Given the description of an element on the screen output the (x, y) to click on. 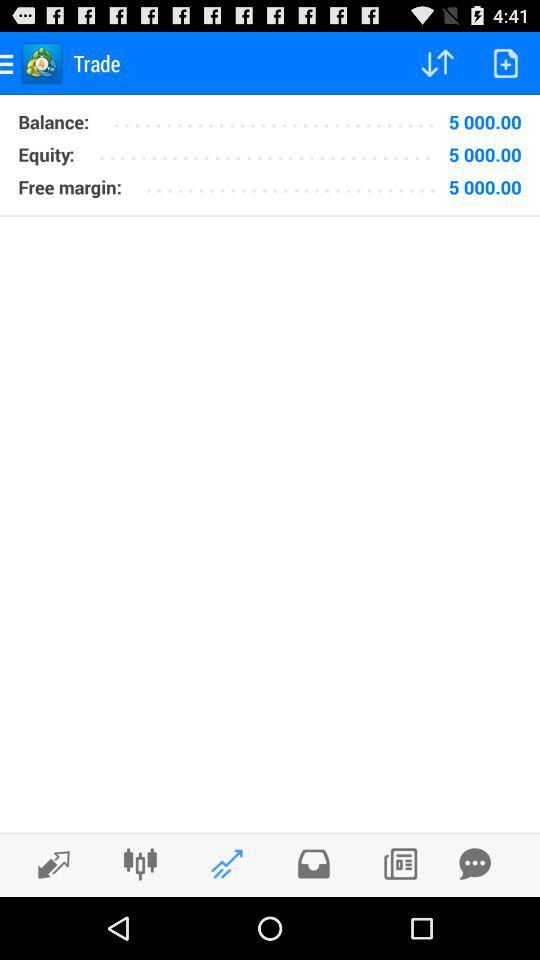
look at news feed (400, 863)
